Given the description of an element on the screen output the (x, y) to click on. 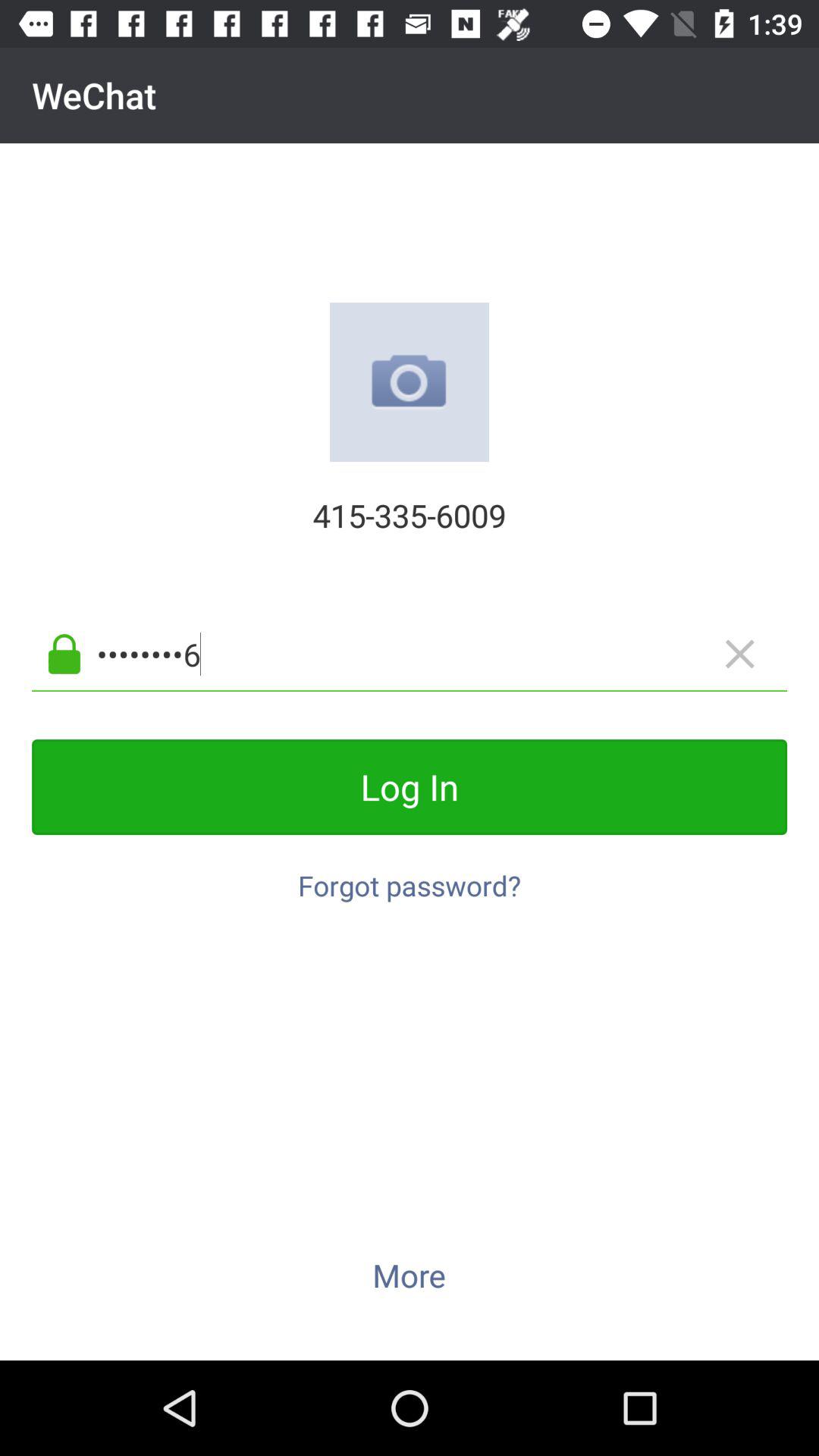
select button below the forgot password? button (408, 1274)
